Given the description of an element on the screen output the (x, y) to click on. 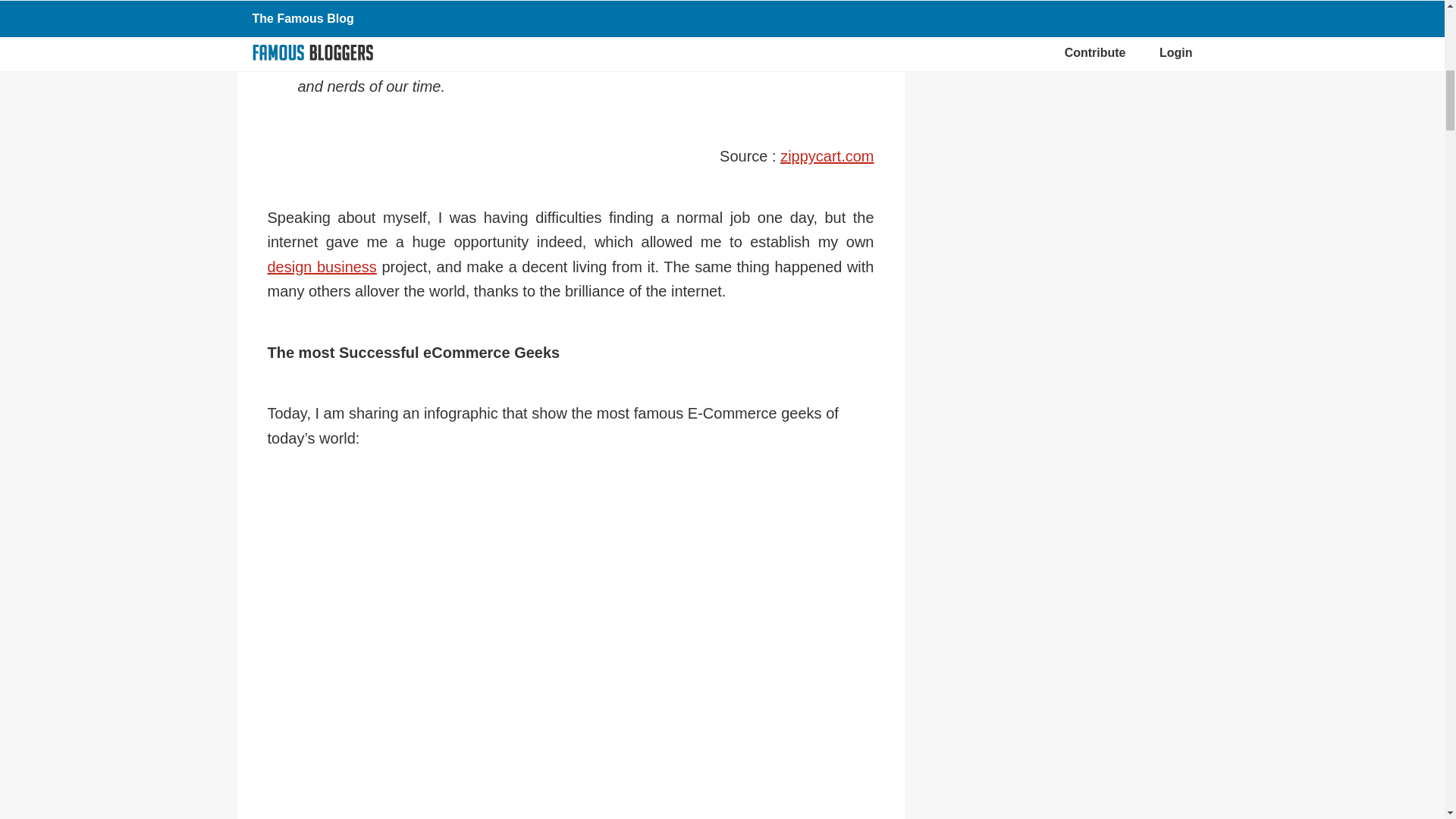
design business (320, 266)
design business (320, 266)
zippycart.com (826, 156)
The age of the ecommerce geek. (826, 156)
